Given the description of an element on the screen output the (x, y) to click on. 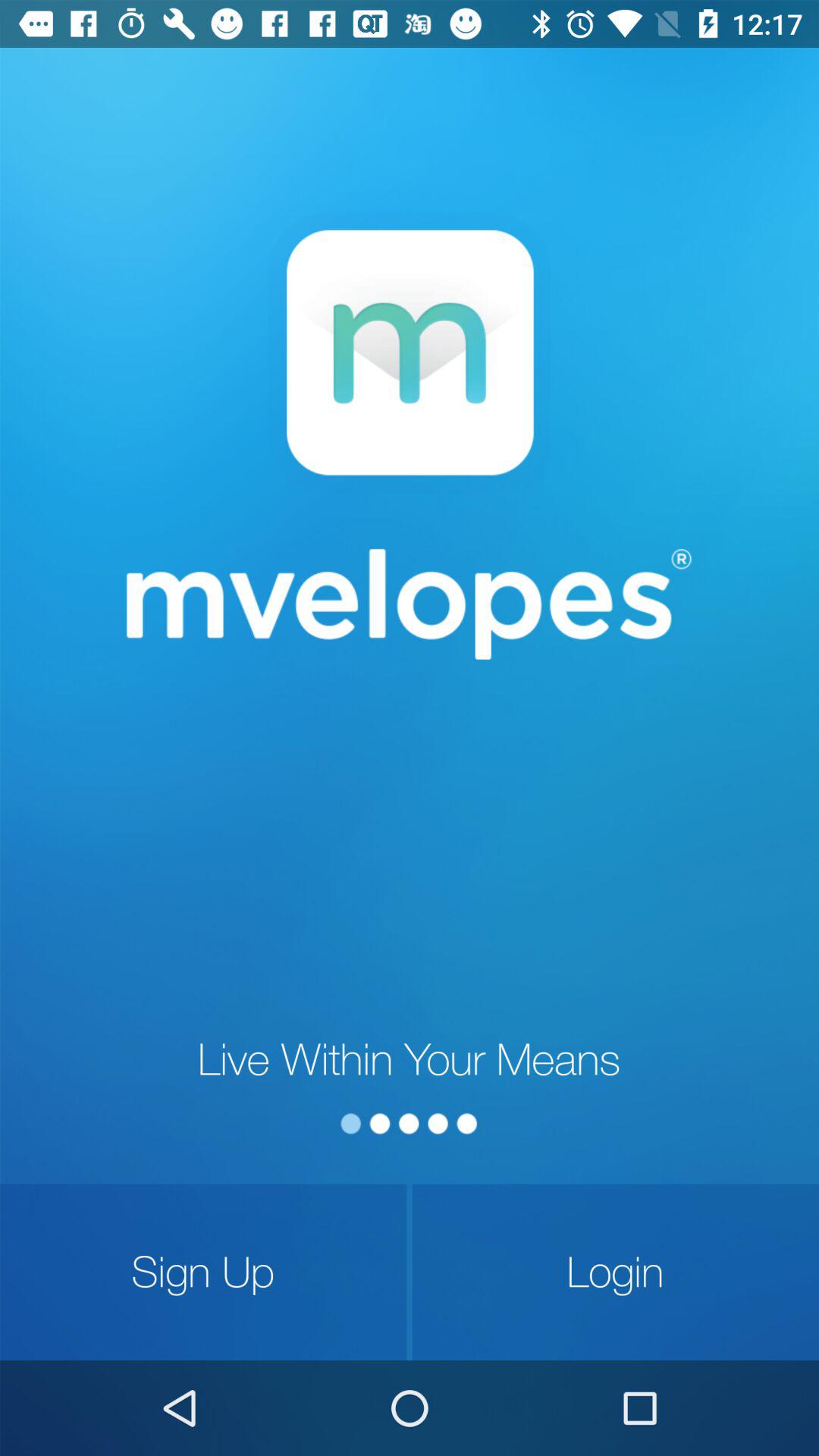
turn off the item to the right of the sign up (615, 1272)
